Given the description of an element on the screen output the (x, y) to click on. 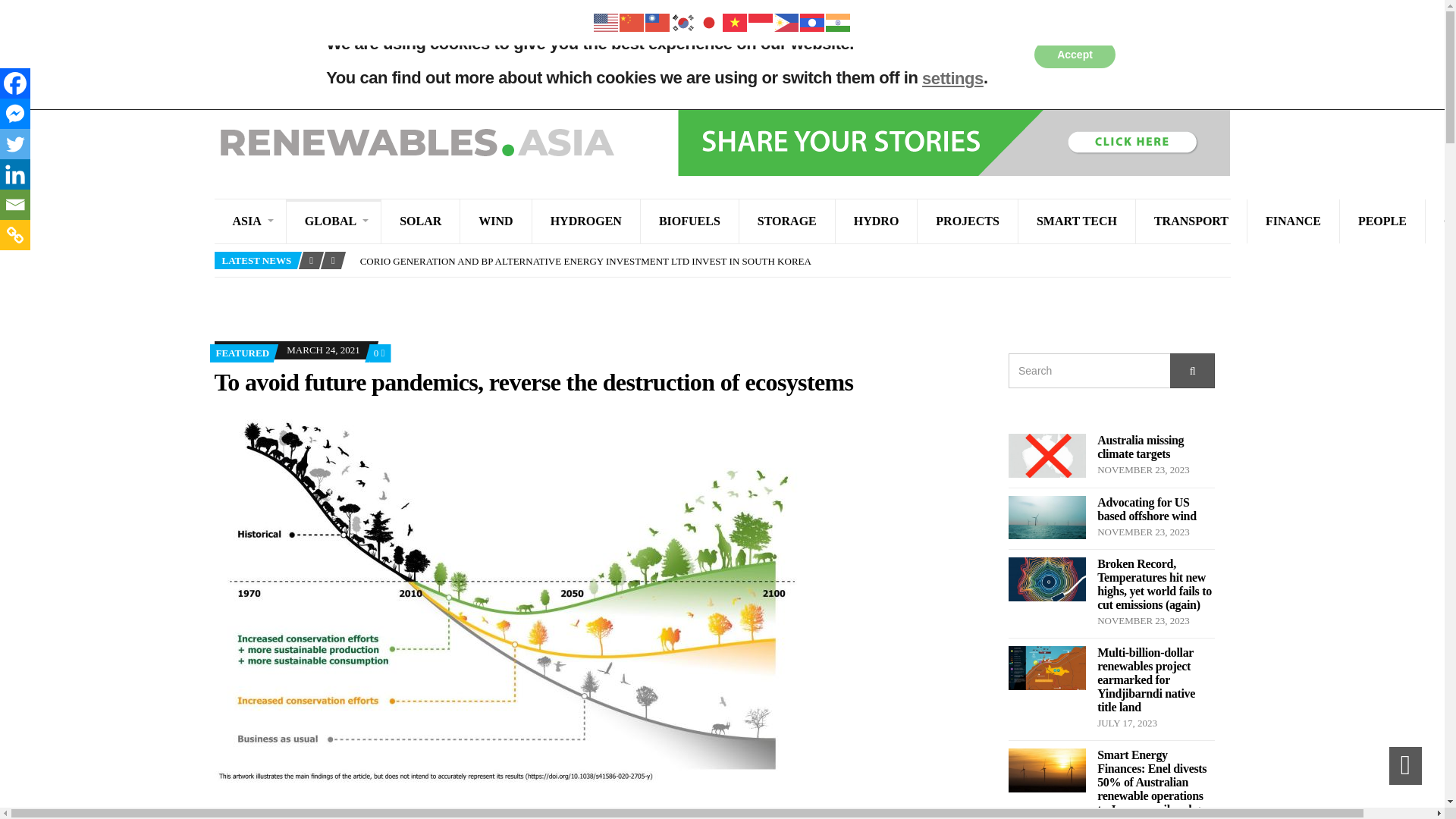
English (605, 21)
Linkedin (15, 173)
Email (15, 204)
Lao (812, 21)
Copy Link (15, 235)
Indonesian (760, 21)
Twitter (15, 143)
Hindi (837, 21)
Filipino (786, 21)
Facebook (15, 82)
Vietnamese (735, 21)
Korean (682, 21)
Japanese (708, 21)
